Given the description of an element on the screen output the (x, y) to click on. 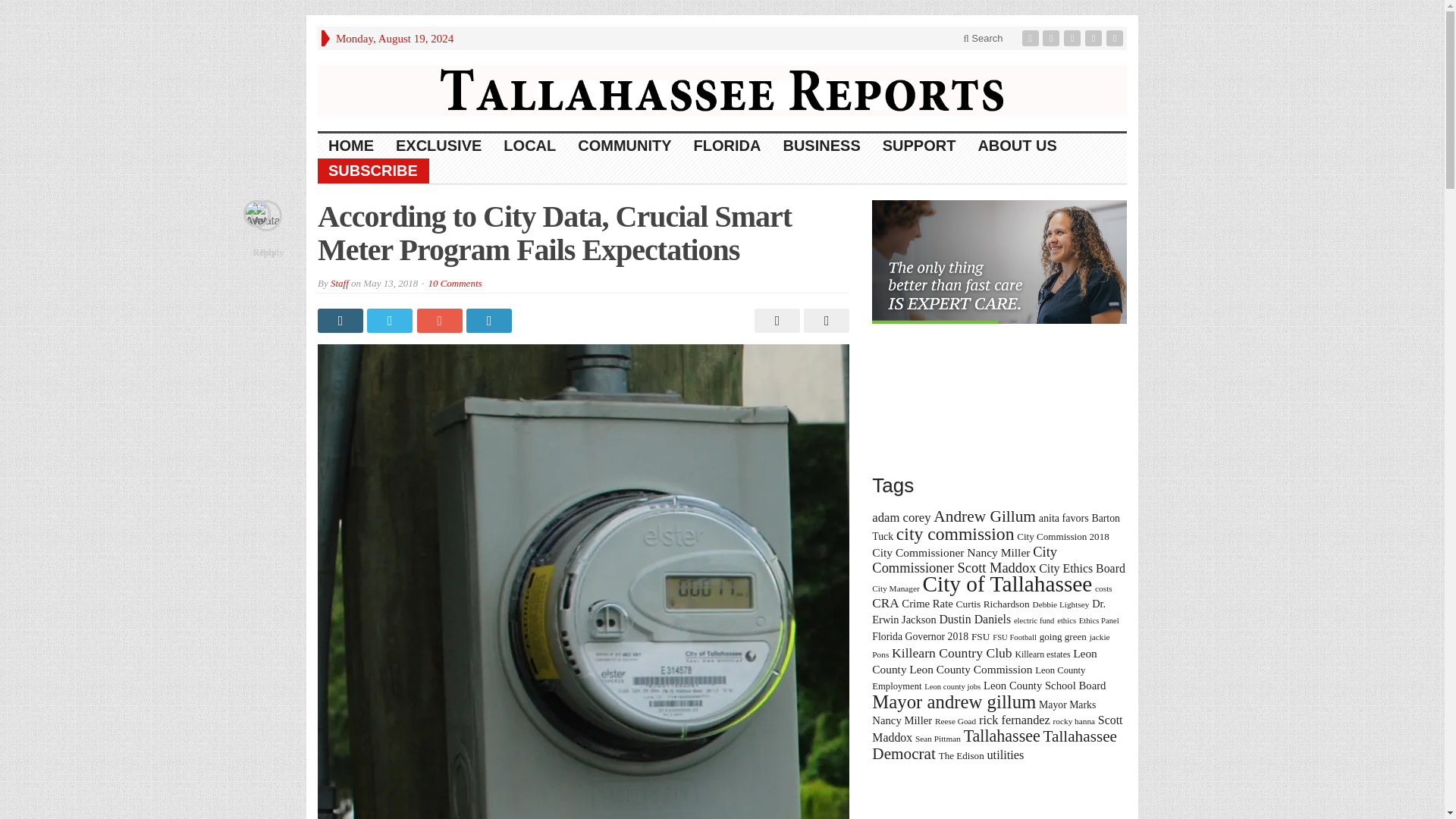
COMMUNITY (624, 145)
Facebook (1032, 37)
Online News (721, 90)
LOCAL (530, 145)
SUPPORT (920, 145)
ABOUT US (1016, 145)
BUSINESS (820, 145)
SUBSCRIBE (373, 170)
HOME (351, 145)
Youtube (1094, 37)
